Given the description of an element on the screen output the (x, y) to click on. 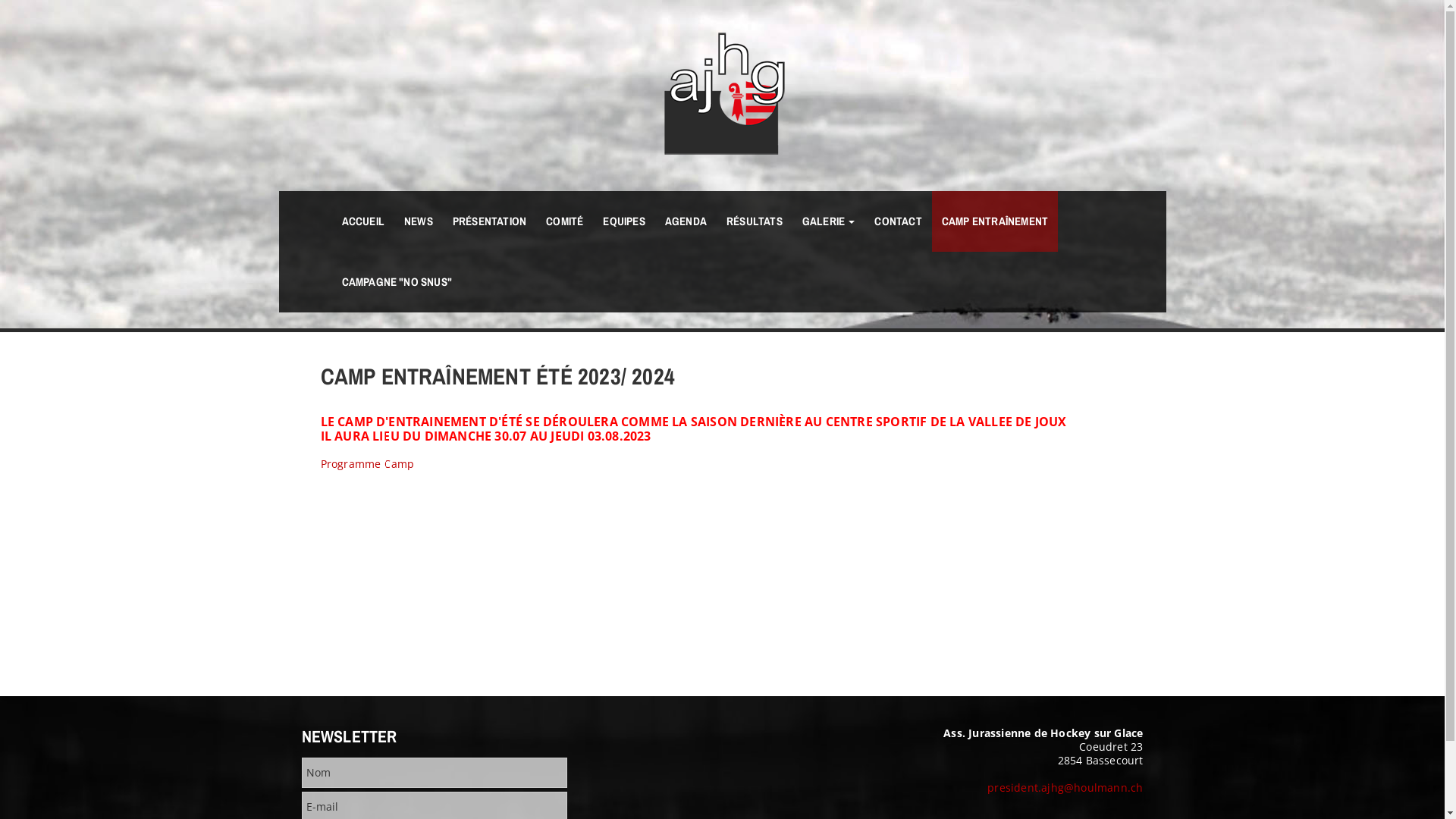
CAMPAGNE "NO SNUS" Element type: text (397, 281)
ACCUEIL Element type: text (363, 221)
NEWS Element type: text (418, 221)
EQUIPES Element type: text (623, 221)
Programme Camp Element type: text (367, 463)
AGENDA Element type: text (685, 221)
GALERIE Element type: text (828, 221)
president.ajhg@houlmann.ch Element type: text (1064, 787)
Nom Element type: hover (434, 772)
CONTACT Element type: text (897, 221)
